Given the description of an element on the screen output the (x, y) to click on. 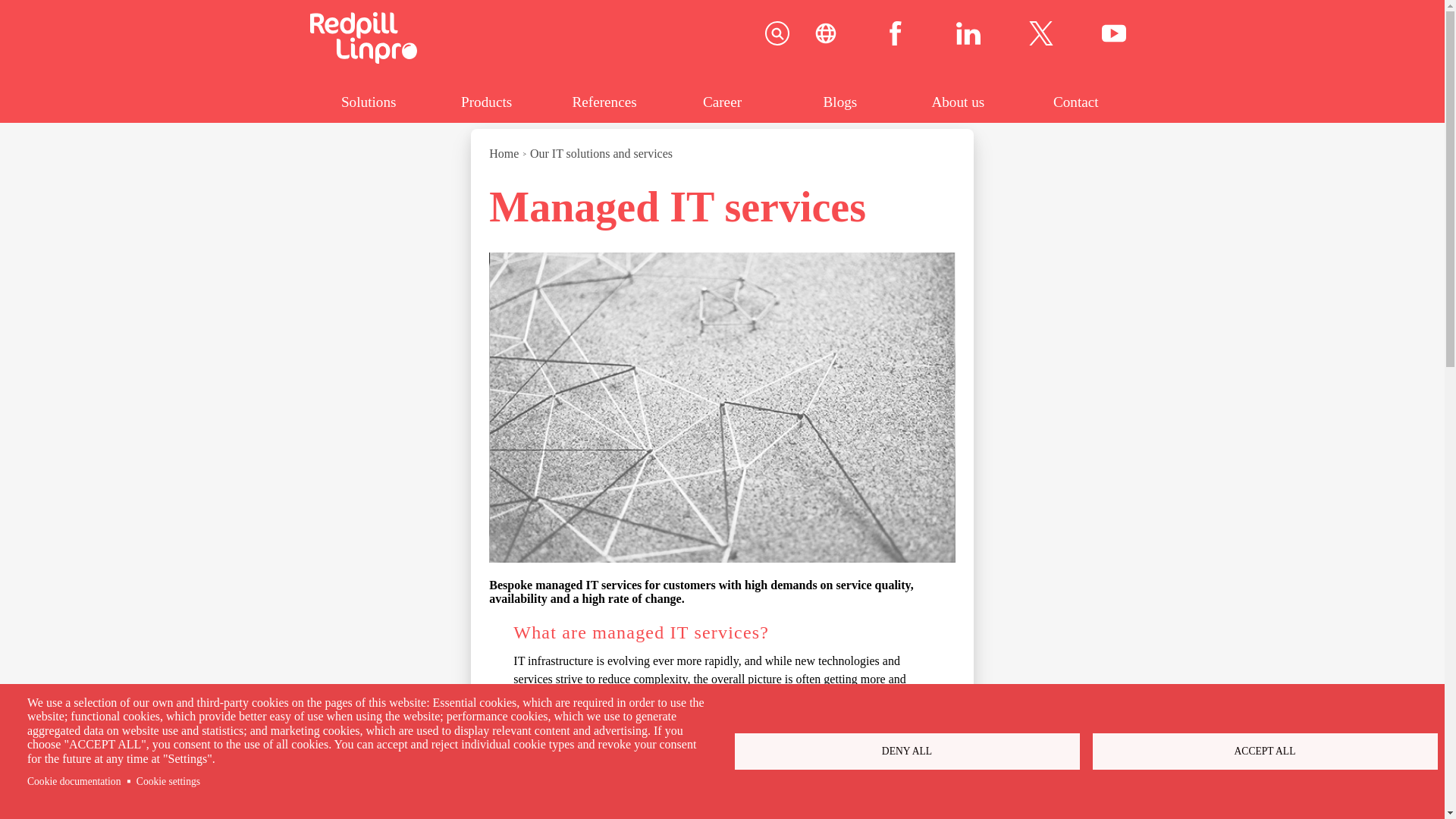
Solutions (367, 101)
Products (486, 101)
Logo 0 (1039, 33)
Logo 0 (1039, 34)
Home (362, 59)
X.com (1039, 34)
